Given the description of an element on the screen output the (x, y) to click on. 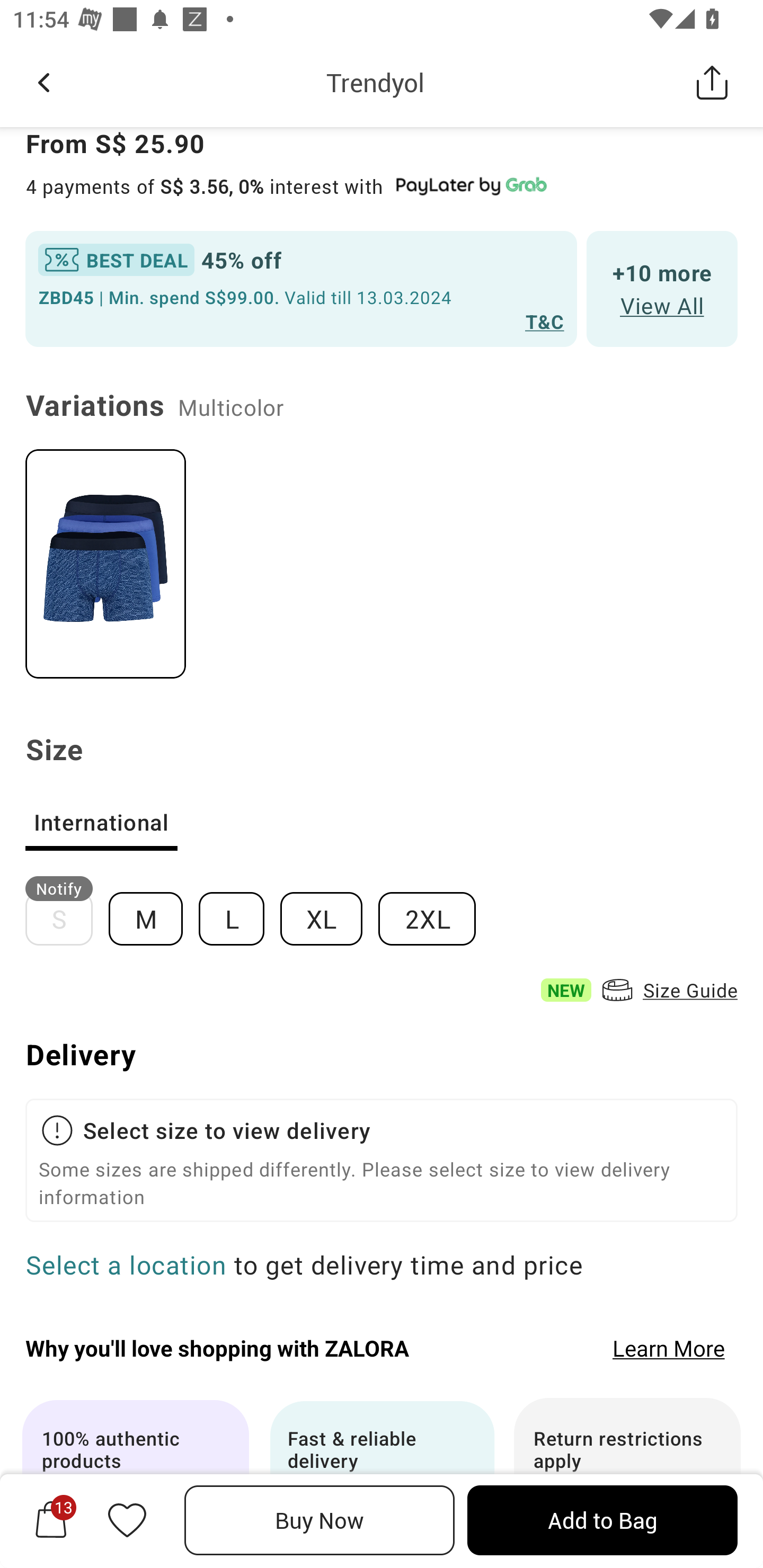
Trendyol (375, 82)
Share this Product (711, 82)
+10 more
View All (661, 288)
T&C (544, 320)
Notify S (66, 910)
M (153, 910)
L (239, 910)
XL (329, 910)
2XL (434, 910)
Size Guide (667, 989)
Learn More (668, 1347)
100% authentic products (135, 1483)
Fast & reliable delivery (381, 1483)
Return restrictions apply (627, 1483)
Buy Now (319, 1519)
Add to Bag (601, 1519)
13 (50, 1520)
